Given the description of an element on the screen output the (x, y) to click on. 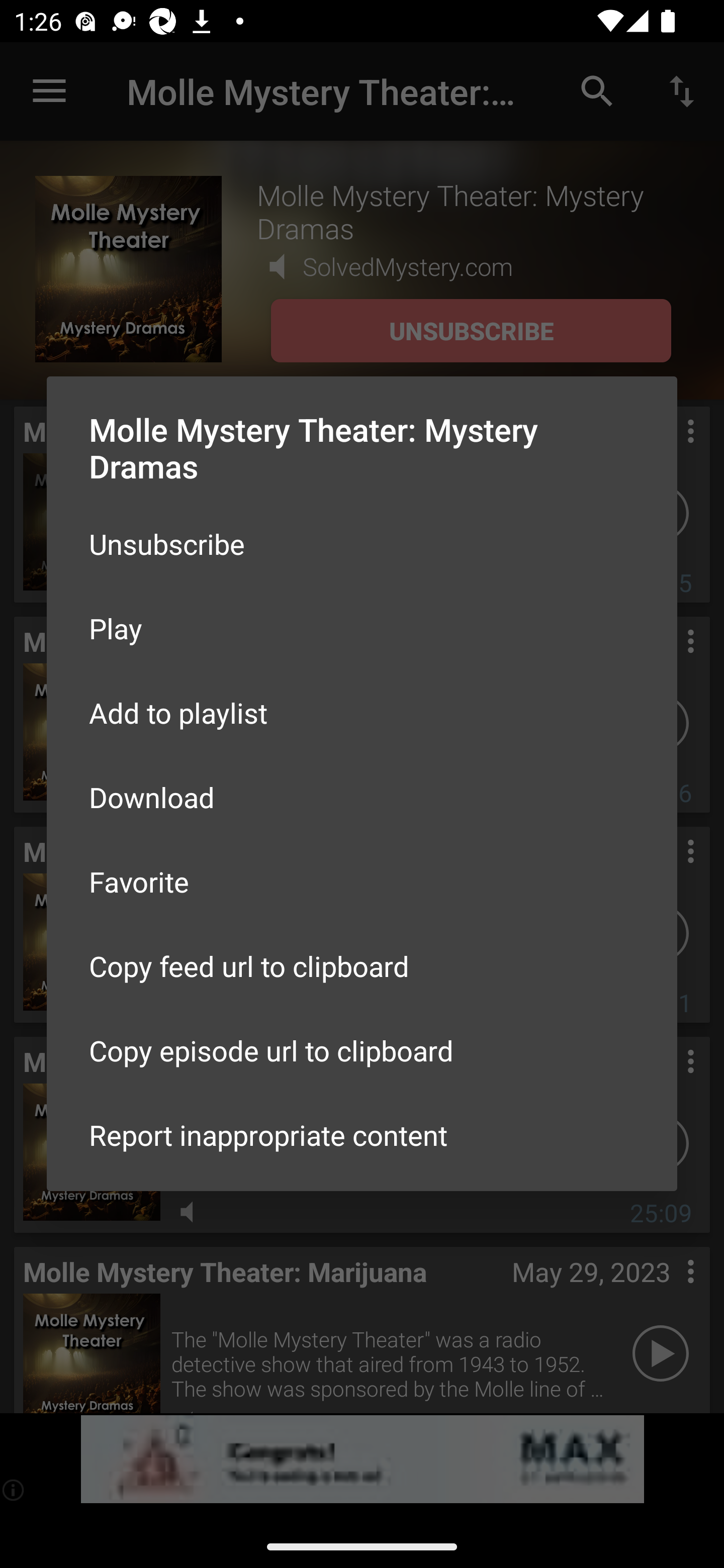
Unsubscribe (361, 543)
Play (361, 628)
Add to playlist (361, 712)
Download (361, 796)
Favorite (361, 880)
Copy feed url to clipboard (361, 965)
Copy episode url to clipboard (361, 1050)
Report inappropriate content (361, 1134)
